Given the description of an element on the screen output the (x, y) to click on. 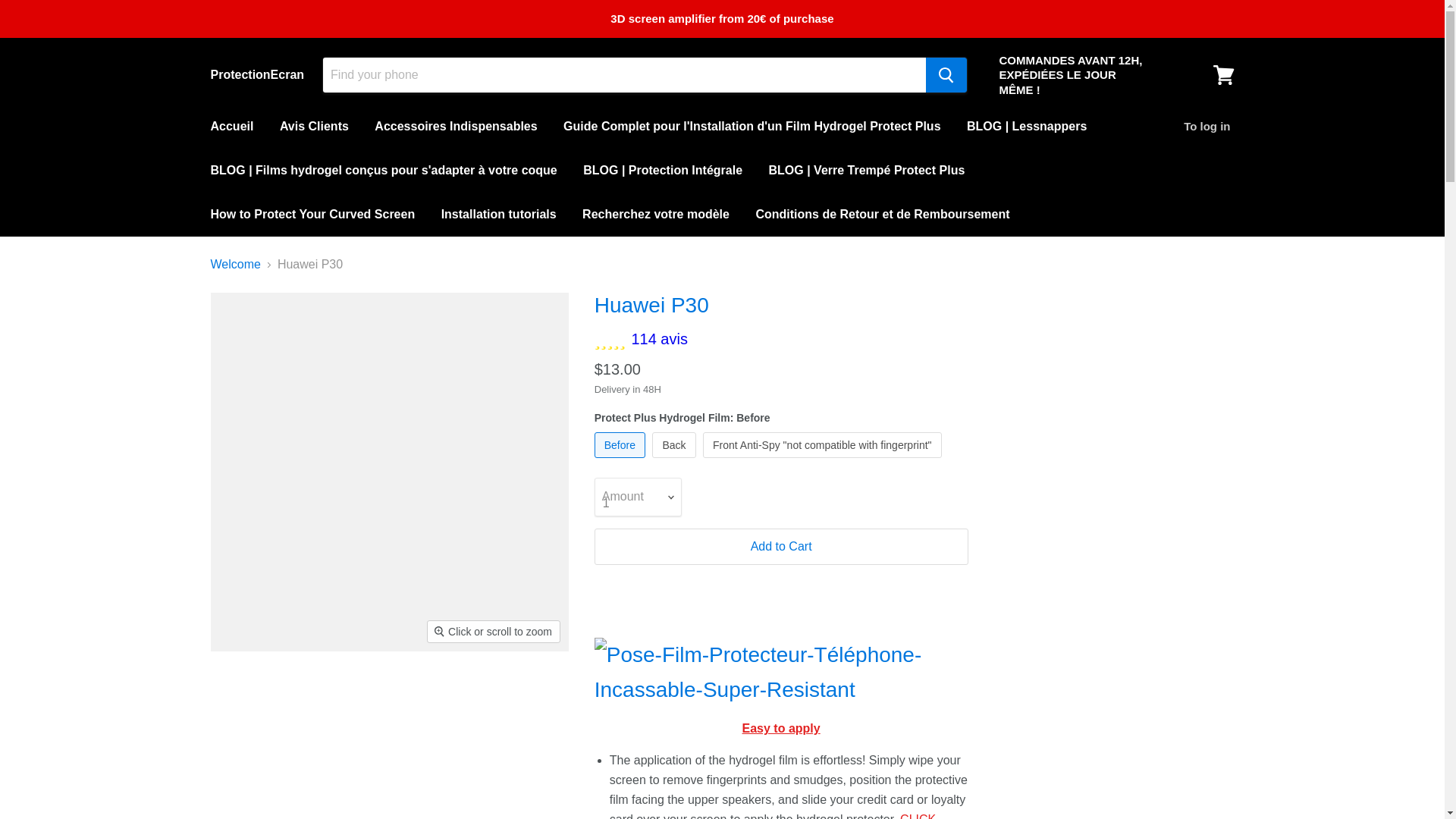
Conditions de Retour et de Remboursement (882, 214)
Avis Clients (313, 126)
See cart (1223, 74)
Installation tutorials (498, 214)
Accessoires Indispensables (455, 126)
Click or scroll to zoom (493, 631)
How to Protect Your Curved Screen (312, 214)
ProtectionEcran (257, 74)
Accueil (231, 126)
Welcome (235, 264)
Poser son film Hydrogel en moins de 5 minutes (773, 816)
To log in (1206, 126)
